Given the description of an element on the screen output the (x, y) to click on. 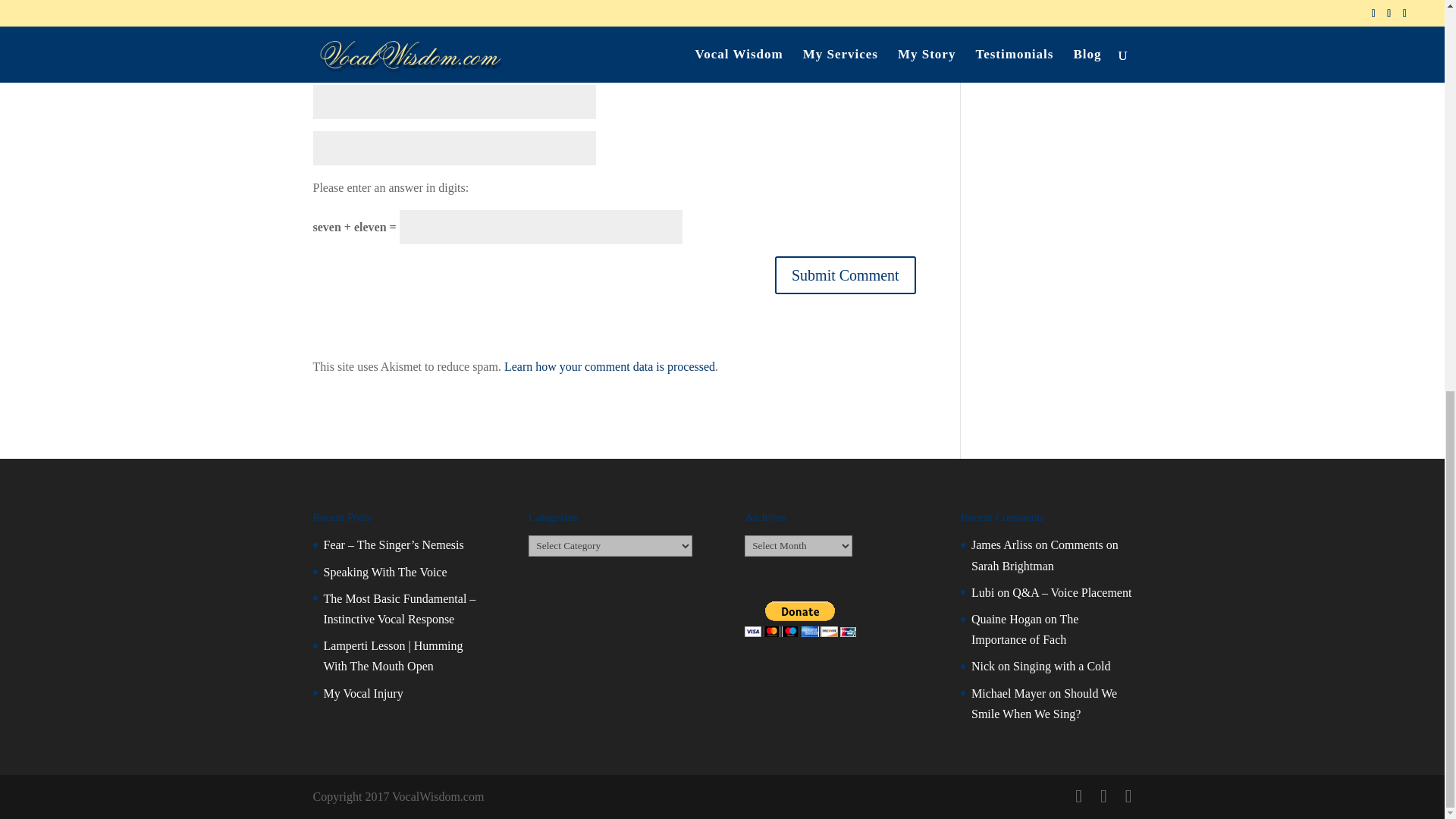
Michael Mayer (1008, 693)
Comments on Sarah Brightman (1044, 554)
The Importance of Fach (1024, 629)
Submit Comment (844, 275)
Should We Smile When We Sing? (1043, 703)
My Vocal Injury (363, 693)
Learn how your comment data is processed (608, 366)
Submit Comment (844, 275)
Speaking With The Voice (384, 571)
Singing with a Cold (1061, 666)
